Given the description of an element on the screen output the (x, y) to click on. 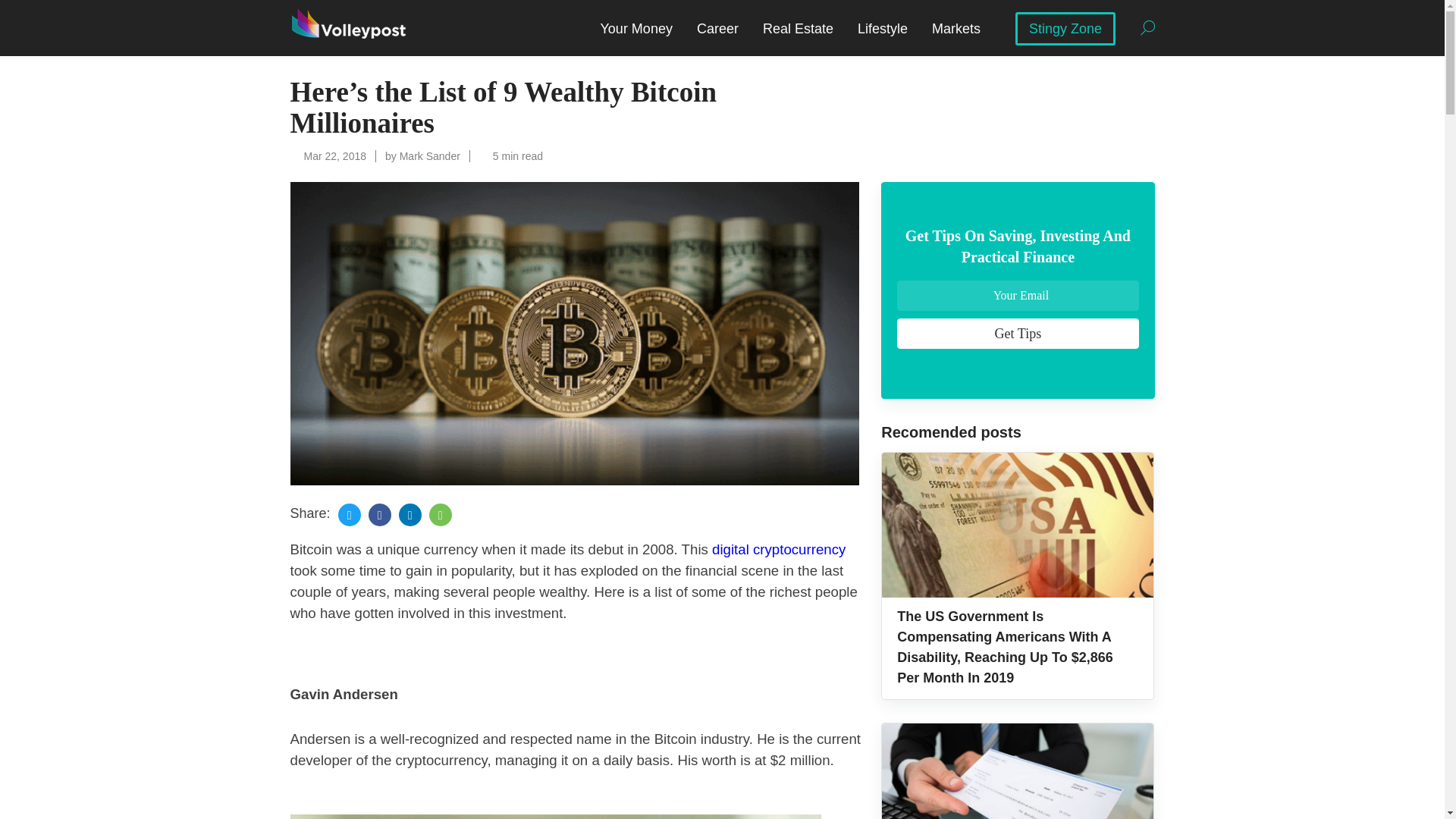
Your Money (636, 28)
Share on LinkedIn. (410, 514)
digital cryptocurrency (778, 549)
Get Tips (1017, 333)
Share on Twitter (349, 514)
Share on Facebook. (379, 514)
Share by Email (440, 514)
Career (717, 28)
Stingy Zone (1064, 28)
Markets (956, 28)
